Given the description of an element on the screen output the (x, y) to click on. 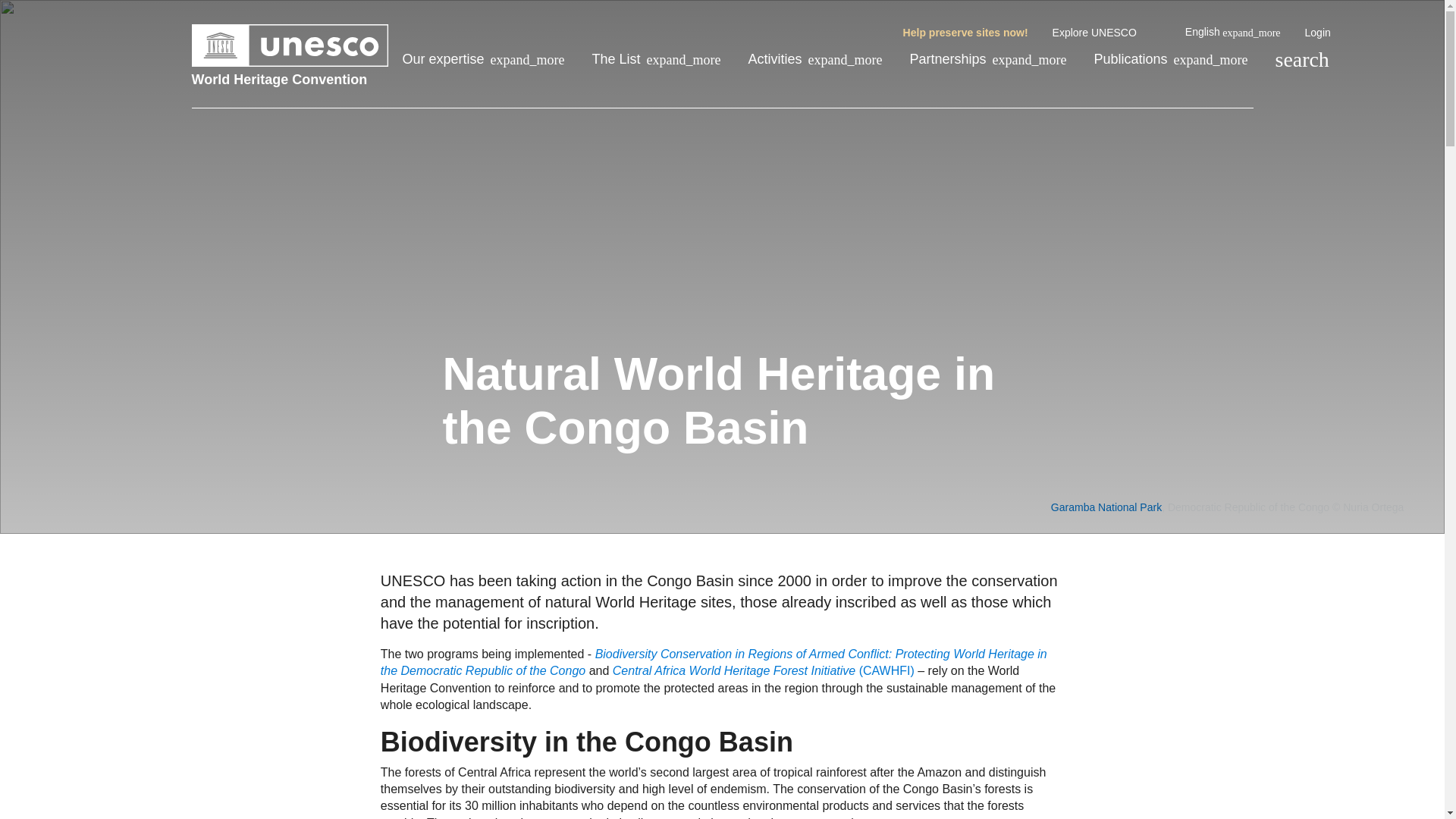
Search (1302, 59)
Explore UNESCO (1106, 32)
Our expertise (482, 58)
Help preserve sites now! (964, 32)
Login (1317, 32)
English (1233, 32)
World Heritage Convention (289, 79)
The List (656, 58)
